Given the description of an element on the screen output the (x, y) to click on. 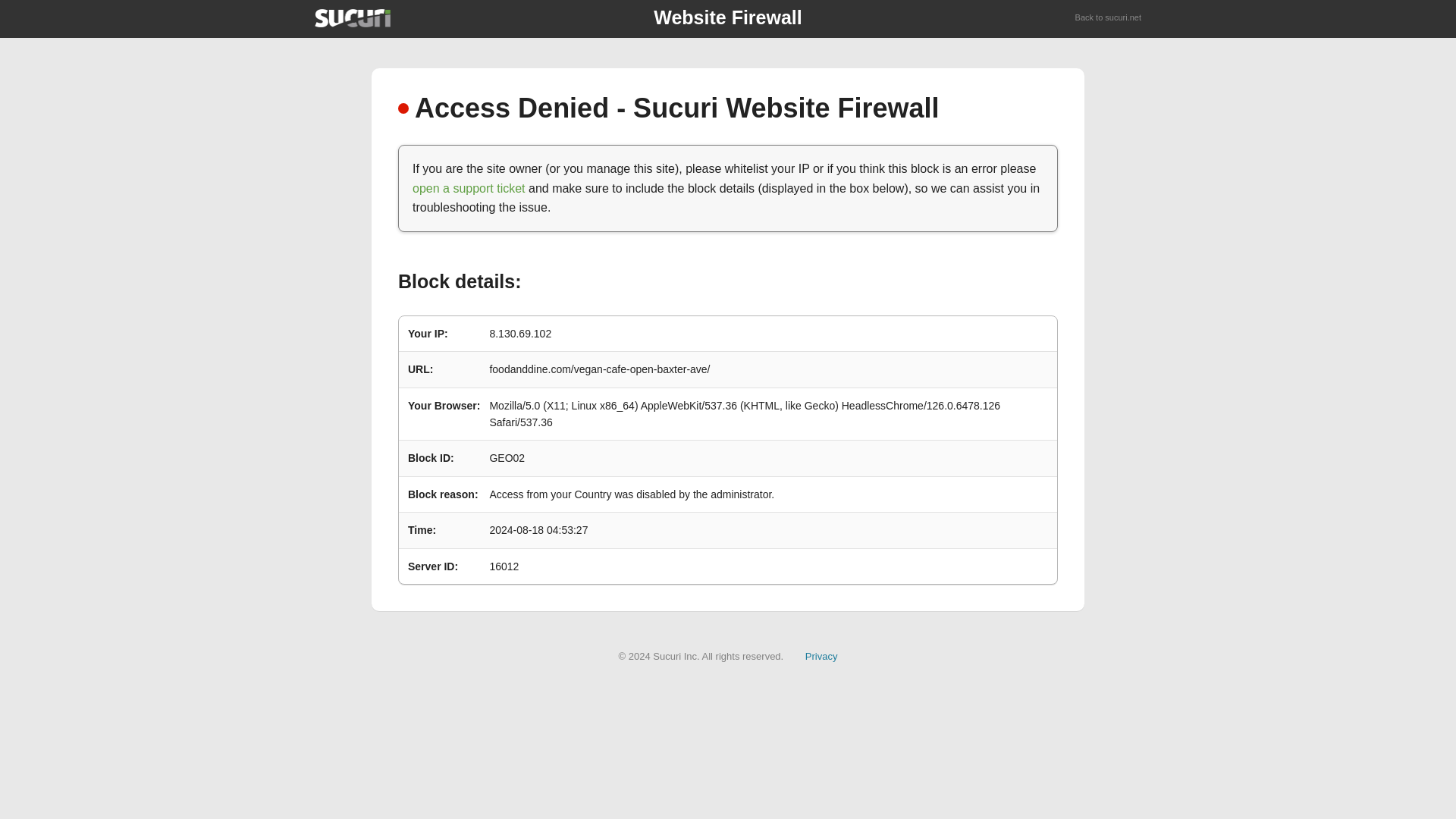
Back to sucuri.net (1108, 18)
Privacy (821, 655)
open a support ticket (468, 187)
